Given the description of an element on the screen output the (x, y) to click on. 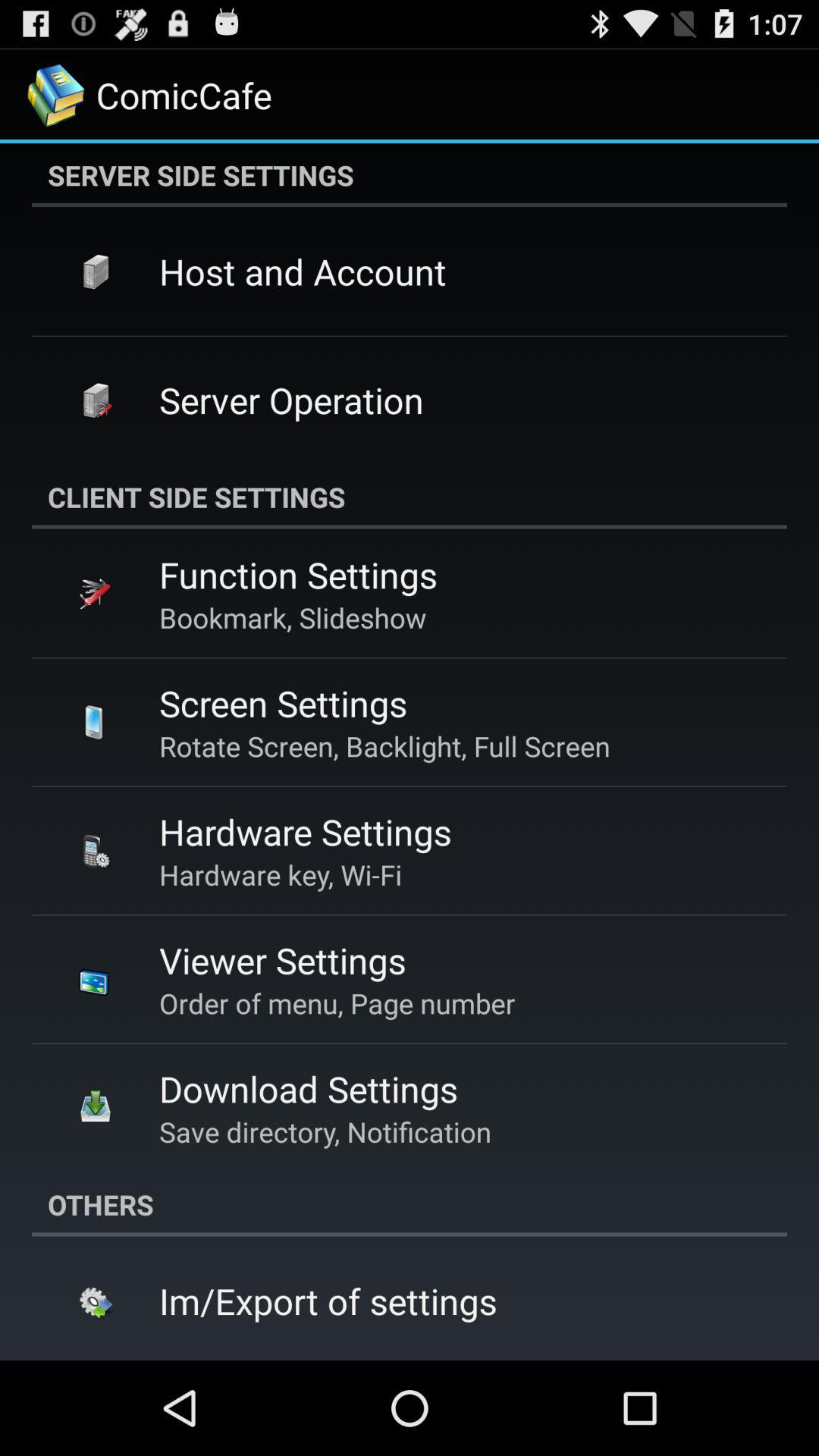
turn on others icon (409, 1204)
